Given the description of an element on the screen output the (x, y) to click on. 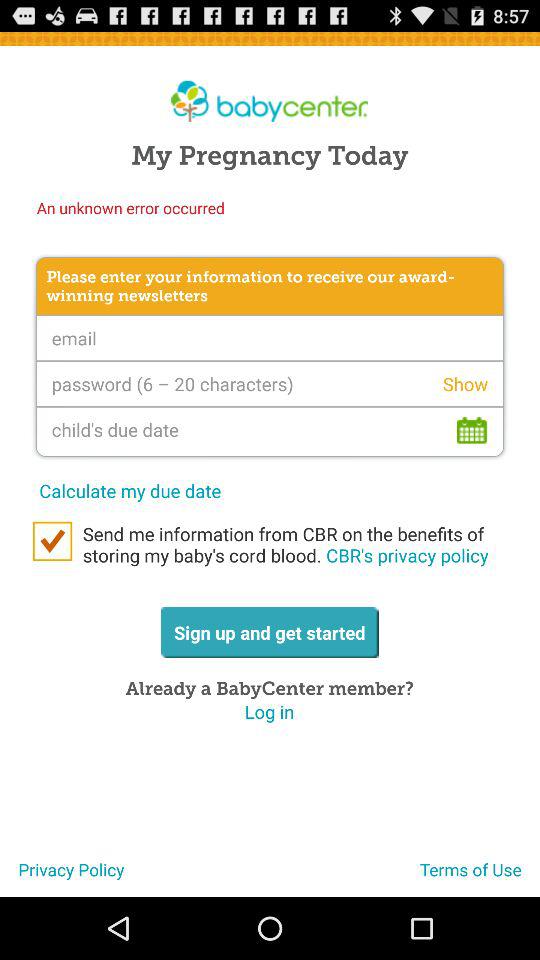
select the icon below the already a babycenter (269, 711)
